Given the description of an element on the screen output the (x, y) to click on. 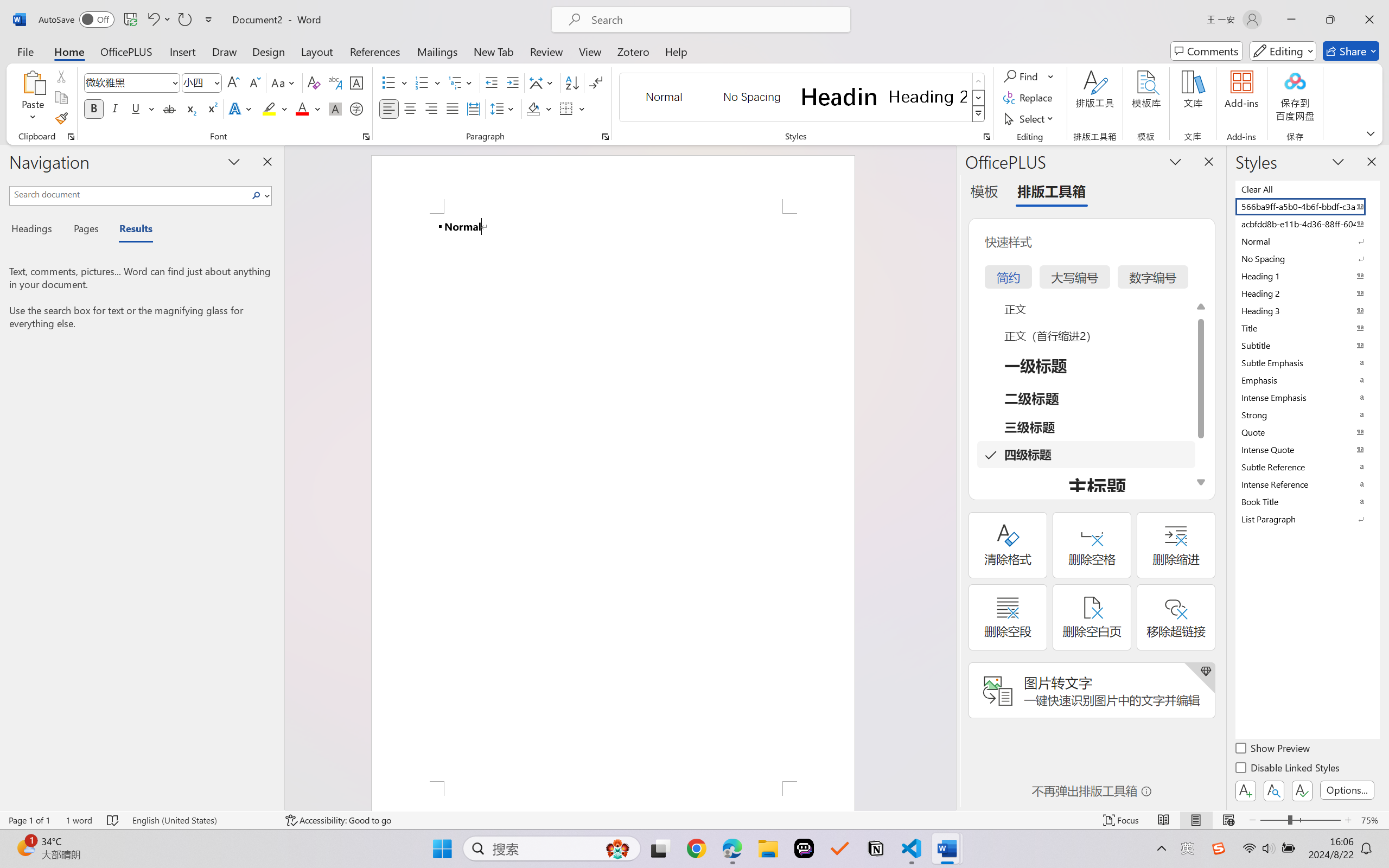
Task Pane Options (1175, 161)
Underline (142, 108)
OfficePLUS (126, 51)
Heading 1 (839, 96)
Intense Quote (1306, 449)
Search document (128, 193)
Find (1022, 75)
File Tab (24, 51)
Comments (1206, 50)
Undo <ApplyStyleToDoc>b__0 (152, 19)
Draw (224, 51)
